Given the description of an element on the screen output the (x, y) to click on. 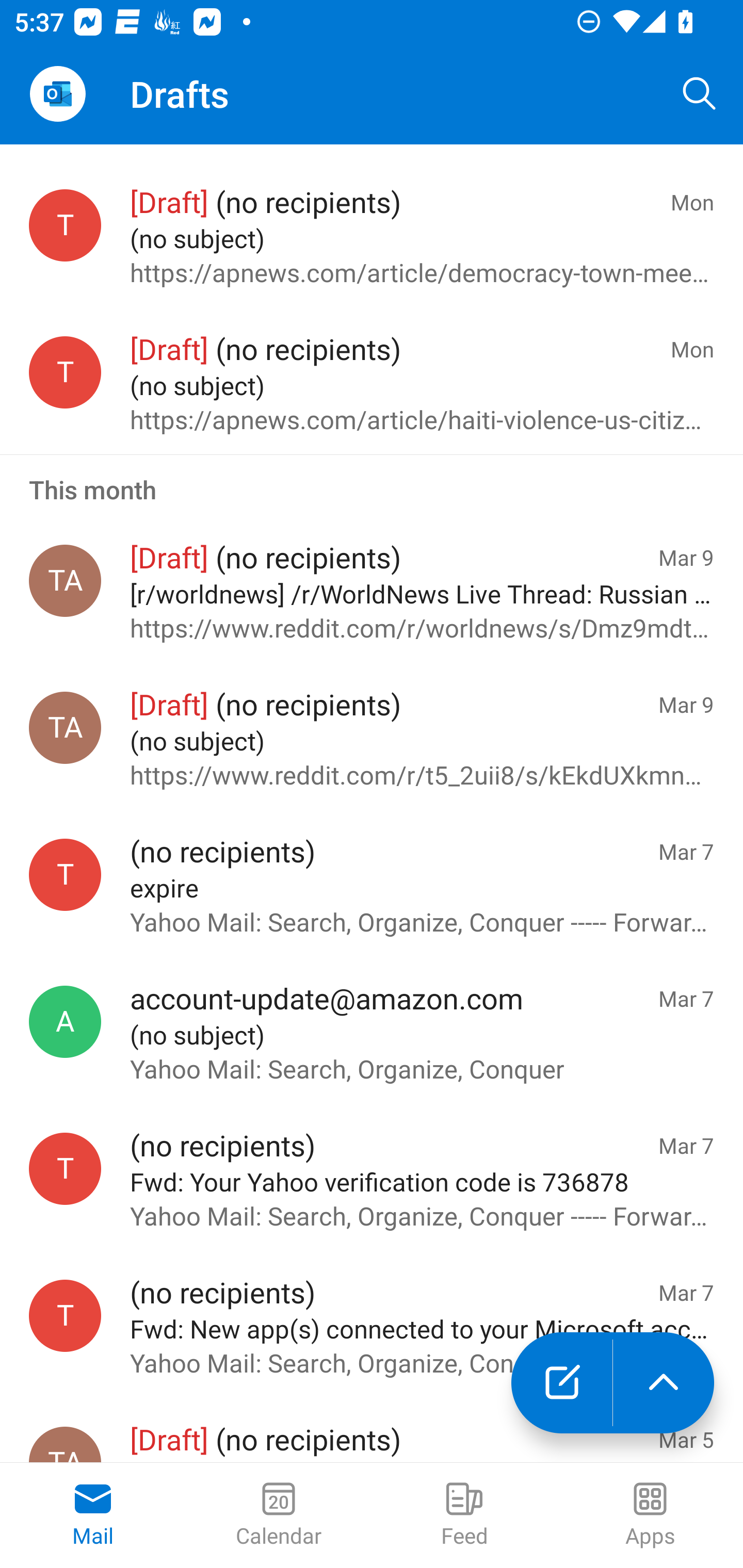
Search, ,  (699, 93)
Open Navigation Drawer (57, 94)
testappium002@outlook.com (64, 225)
testappium002@outlook.com (64, 372)
Test Appium, testappium002@outlook.com (64, 580)
Test Appium, testappium002@outlook.com (64, 727)
testappium002@outlook.com (64, 874)
testappium002@outlook.com (64, 1168)
testappium002@outlook.com (64, 1315)
New mail (561, 1382)
launch the extended action menu (663, 1382)
Calendar (278, 1515)
Feed (464, 1515)
Apps (650, 1515)
